Given the description of an element on the screen output the (x, y) to click on. 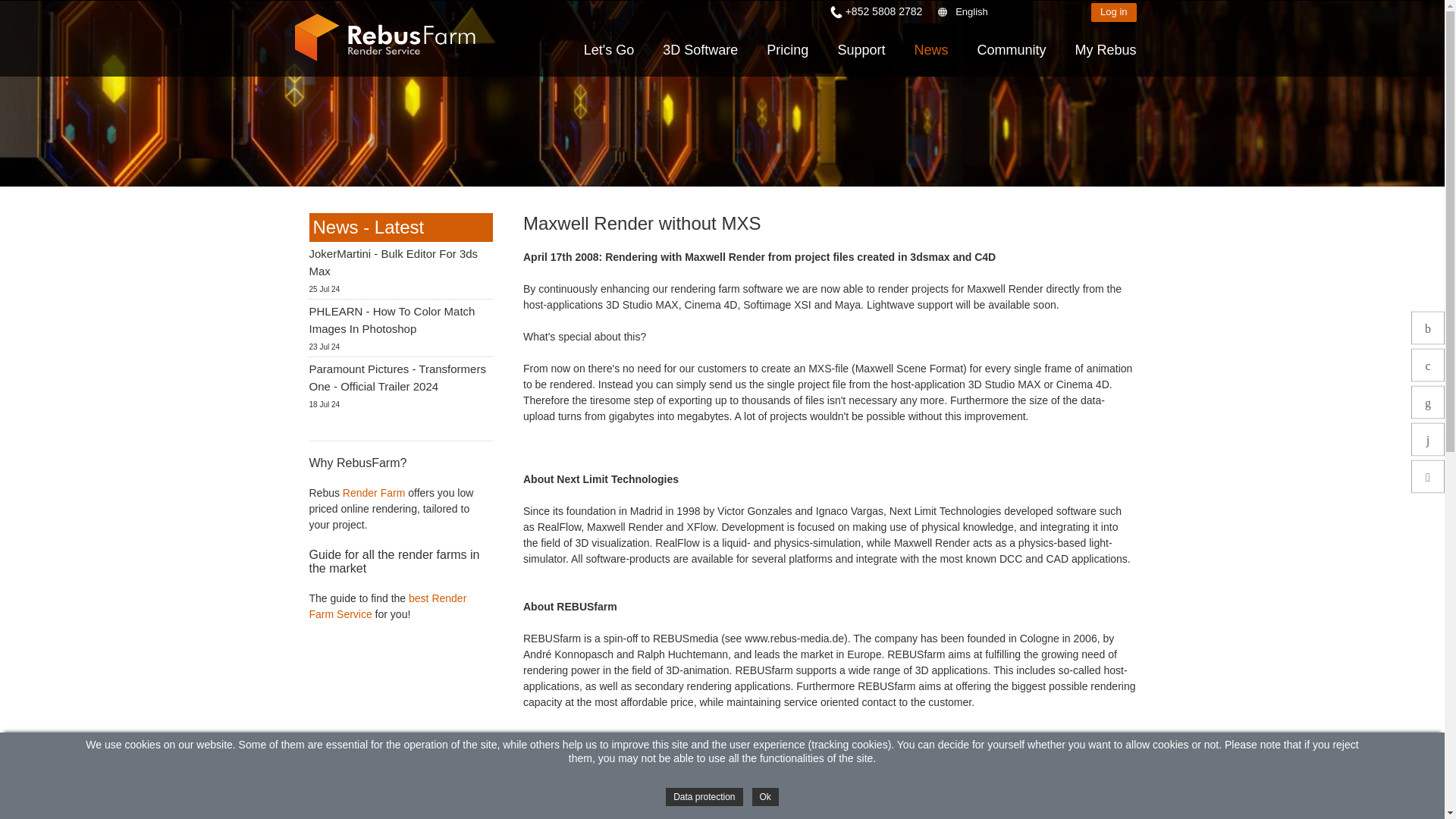
Log in (1112, 12)
3D Software (700, 49)
Let's Go (609, 49)
Rebus render farm (373, 492)
Rebusfarm (385, 37)
English (1008, 11)
Log in (1112, 12)
